Given the description of an element on the screen output the (x, y) to click on. 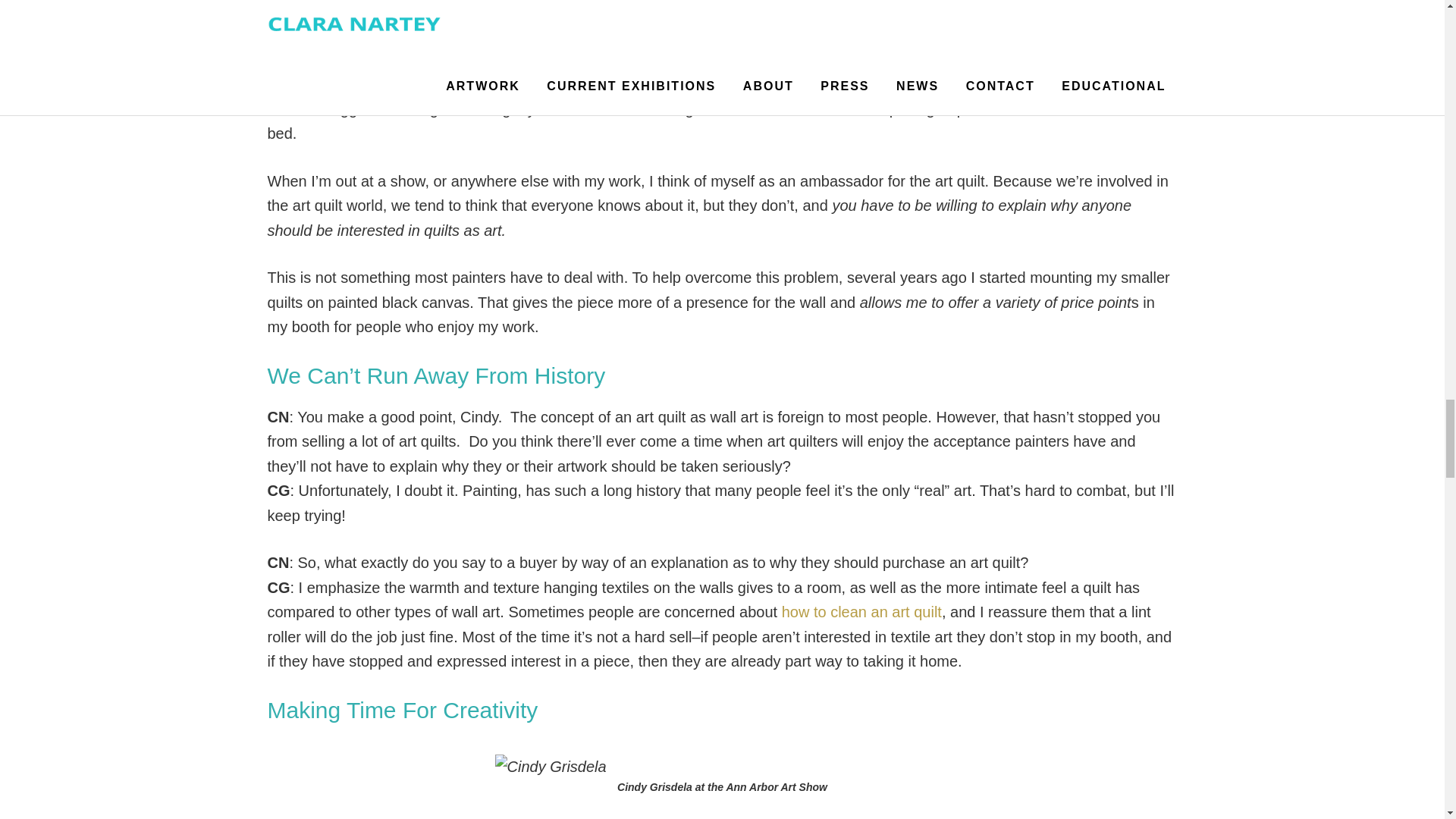
how to clean an art quilt (861, 611)
